Given the description of an element on the screen output the (x, y) to click on. 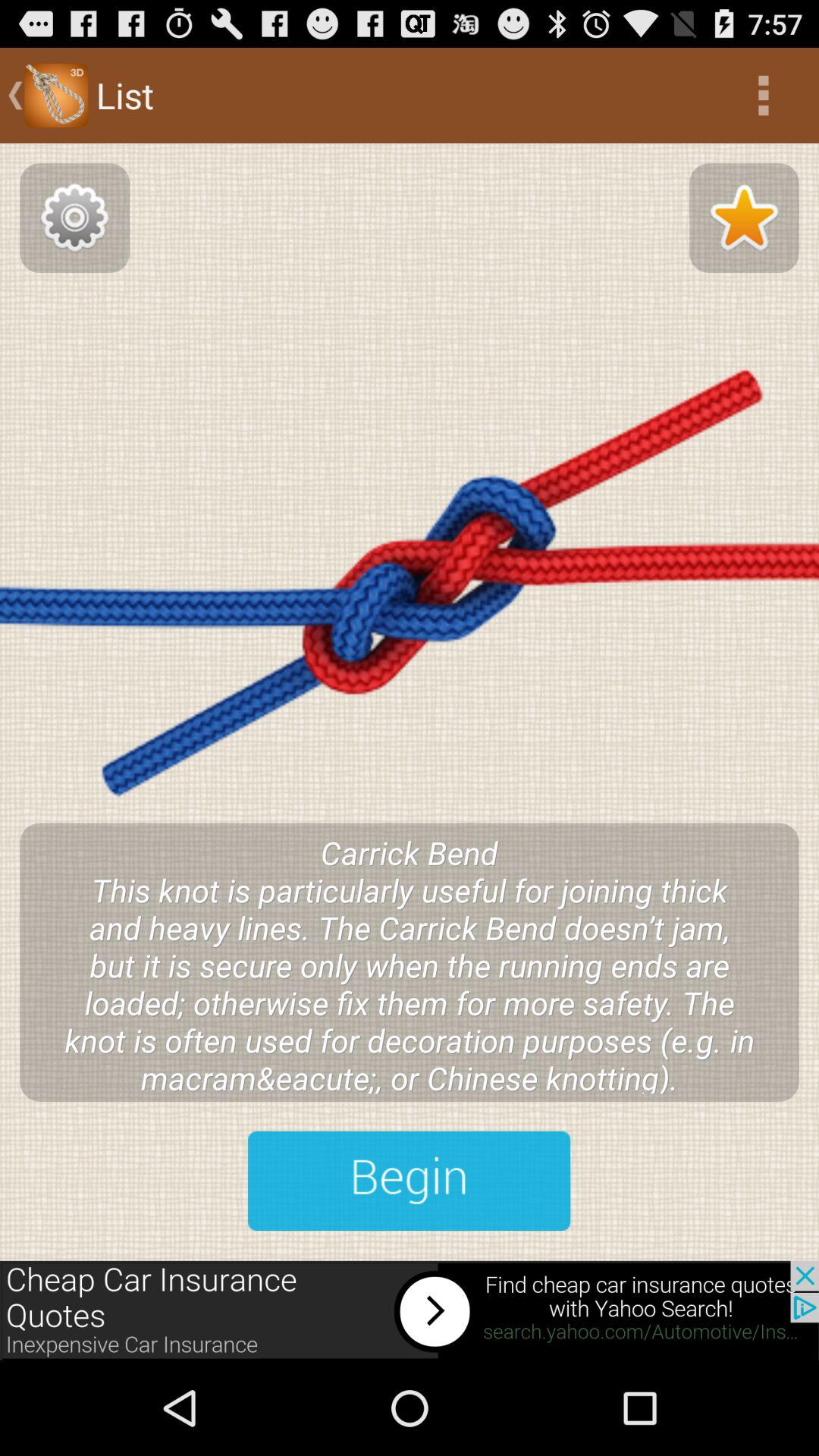
app setting (74, 218)
